Given the description of an element on the screen output the (x, y) to click on. 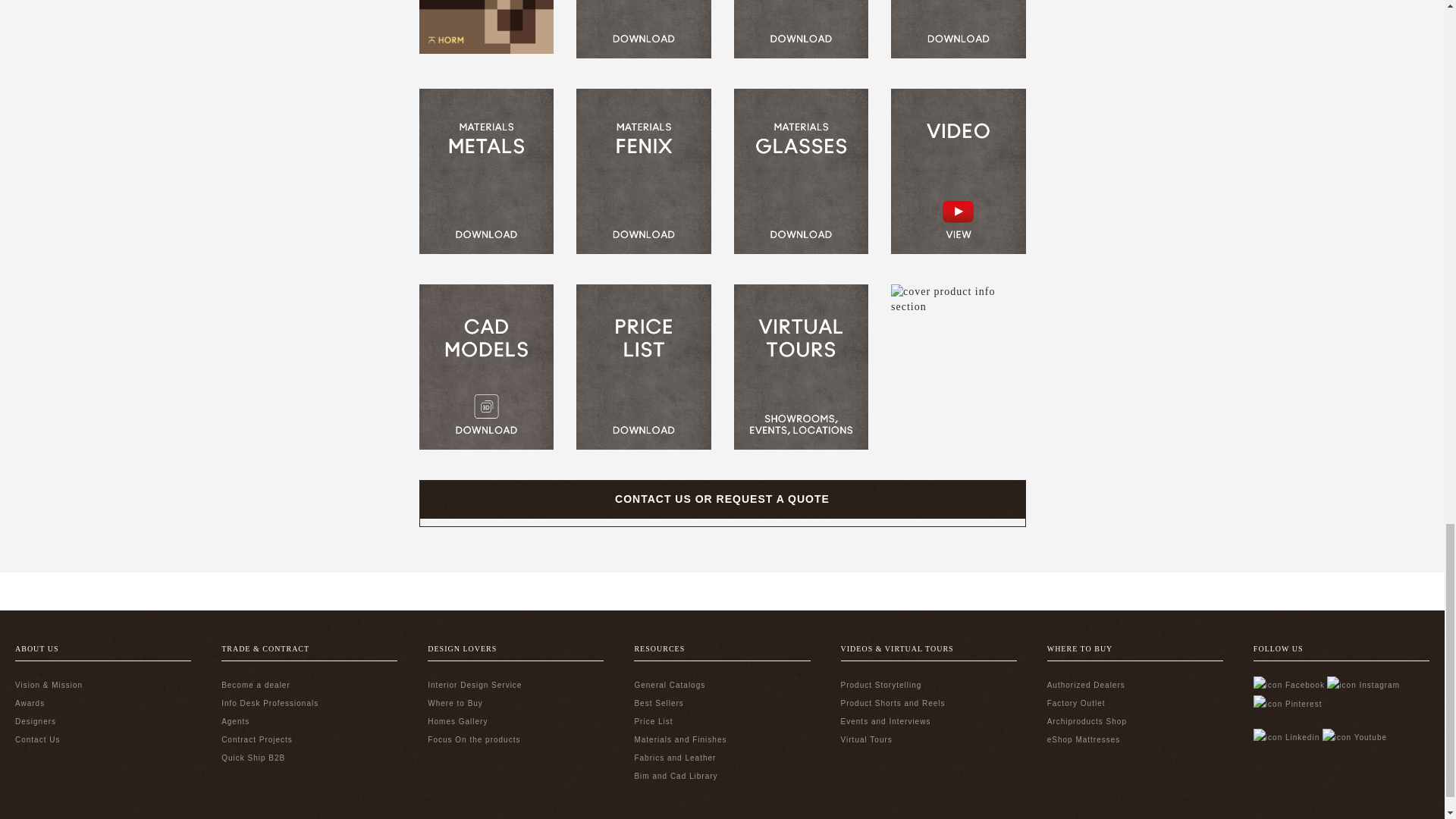
Designers (35, 721)
Become a dealer (255, 684)
Contract Projects (256, 739)
Information Desk for Professionals (269, 703)
Area Managers (234, 721)
Awards (29, 703)
Contact us (36, 739)
